Given the description of an element on the screen output the (x, y) to click on. 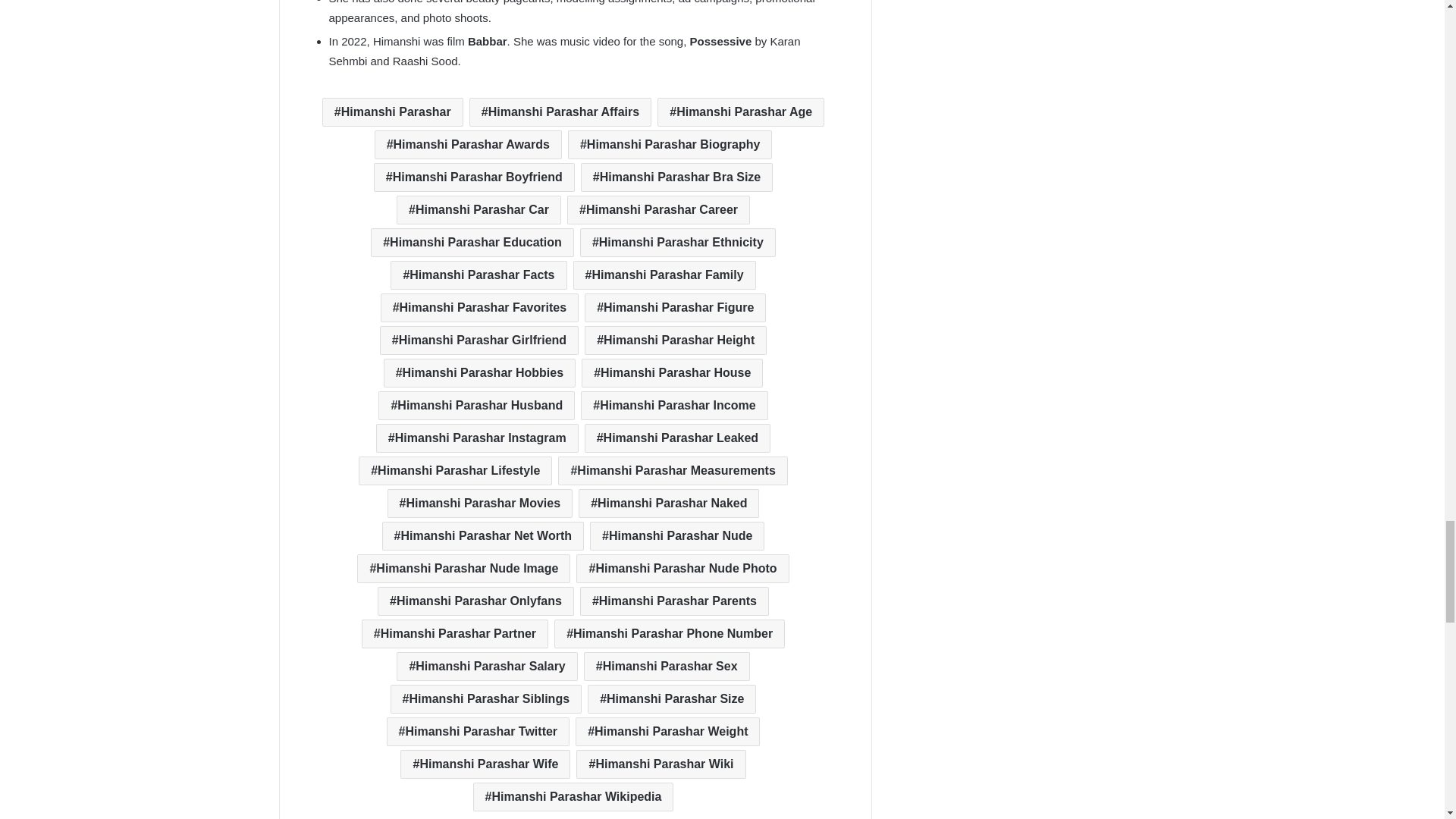
Himanshi Parashar Car (478, 209)
Himanshi Parashar Affairs (559, 111)
Himanshi Parashar Education (472, 242)
Himanshi Parashar Awards (468, 144)
Himanshi Parashar Biography (669, 144)
Himanshi Parashar Bra Size (676, 176)
Himanshi Parashar Career (658, 209)
Himanshi Parashar Boyfriend (474, 176)
Himanshi Parashar Age (741, 111)
Himanshi Parashar (392, 111)
